Given the description of an element on the screen output the (x, y) to click on. 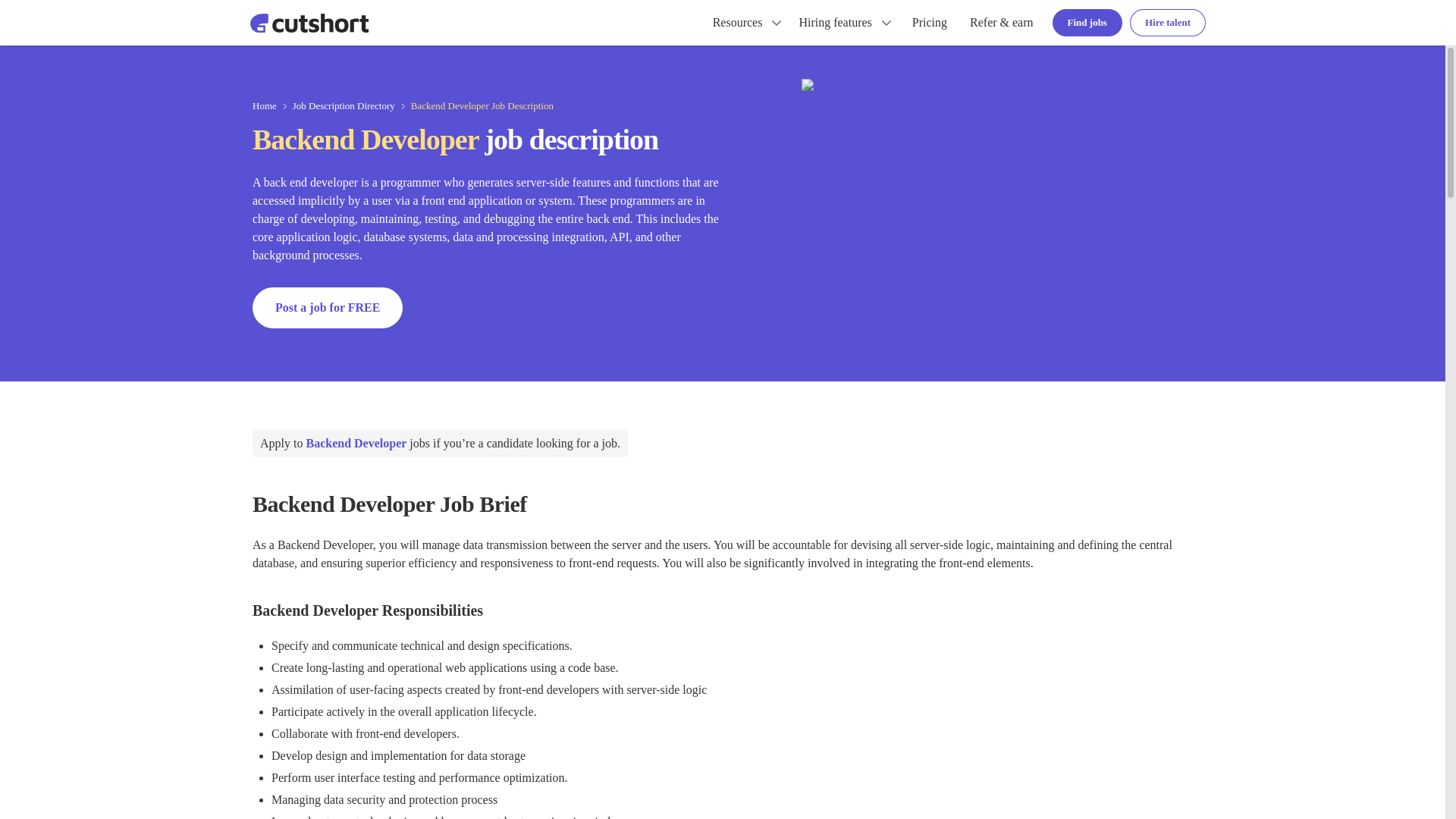
Backend Developer (355, 442)
Hire talent (1167, 22)
Home (263, 105)
Job Description Directory (343, 105)
Pricing (929, 22)
Post a job for FREE (327, 307)
Find jobs (1087, 22)
